Given the description of an element on the screen output the (x, y) to click on. 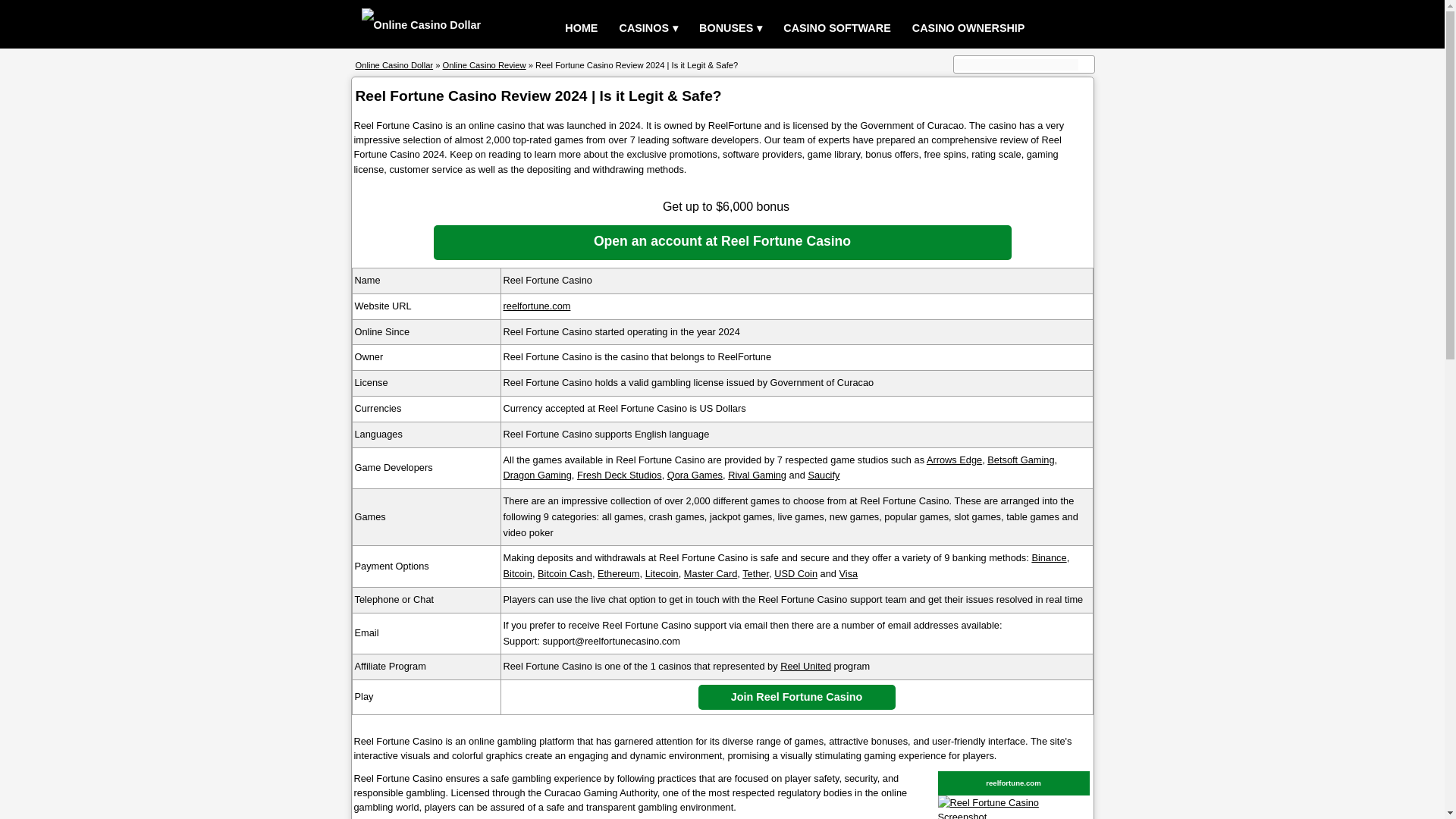
Tether (755, 573)
Qora Games (694, 474)
Ethereum (617, 573)
CASINO OWNERSHIP (968, 28)
reelfortune.com (536, 306)
Binance (1047, 557)
Bitcoin (517, 573)
USD Coin (795, 573)
CASINOS (648, 28)
Rival Gaming (757, 474)
CASINO SOFTWARE (837, 28)
reelfortune.com (1013, 783)
Visa (849, 573)
Dragon Gaming (537, 474)
Arrows Edge (953, 459)
